Given the description of an element on the screen output the (x, y) to click on. 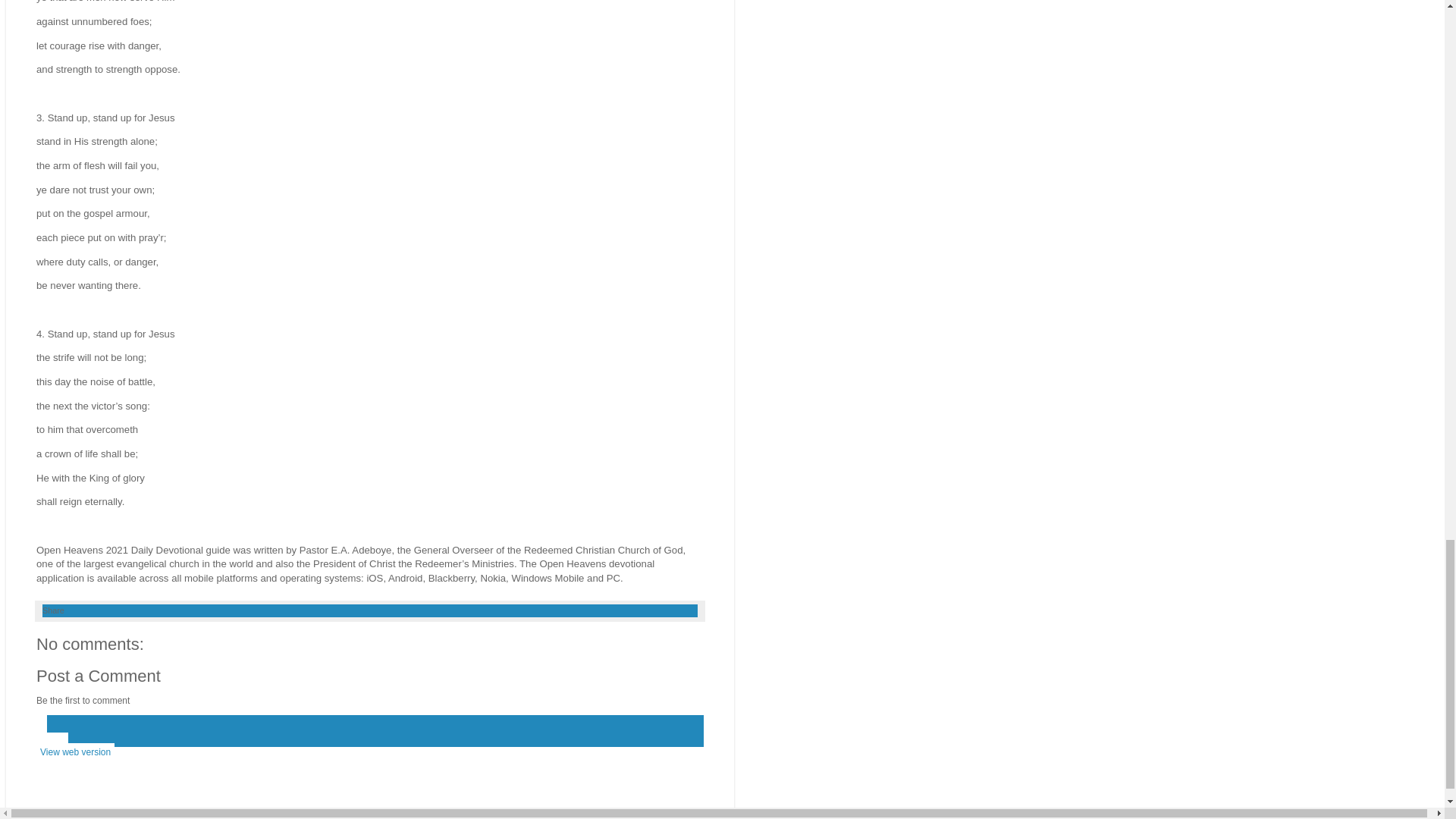
Blogger (393, 811)
Share (53, 610)
Post a Comment (98, 675)
View web version (75, 751)
Home (52, 741)
